Given the description of an element on the screen output the (x, y) to click on. 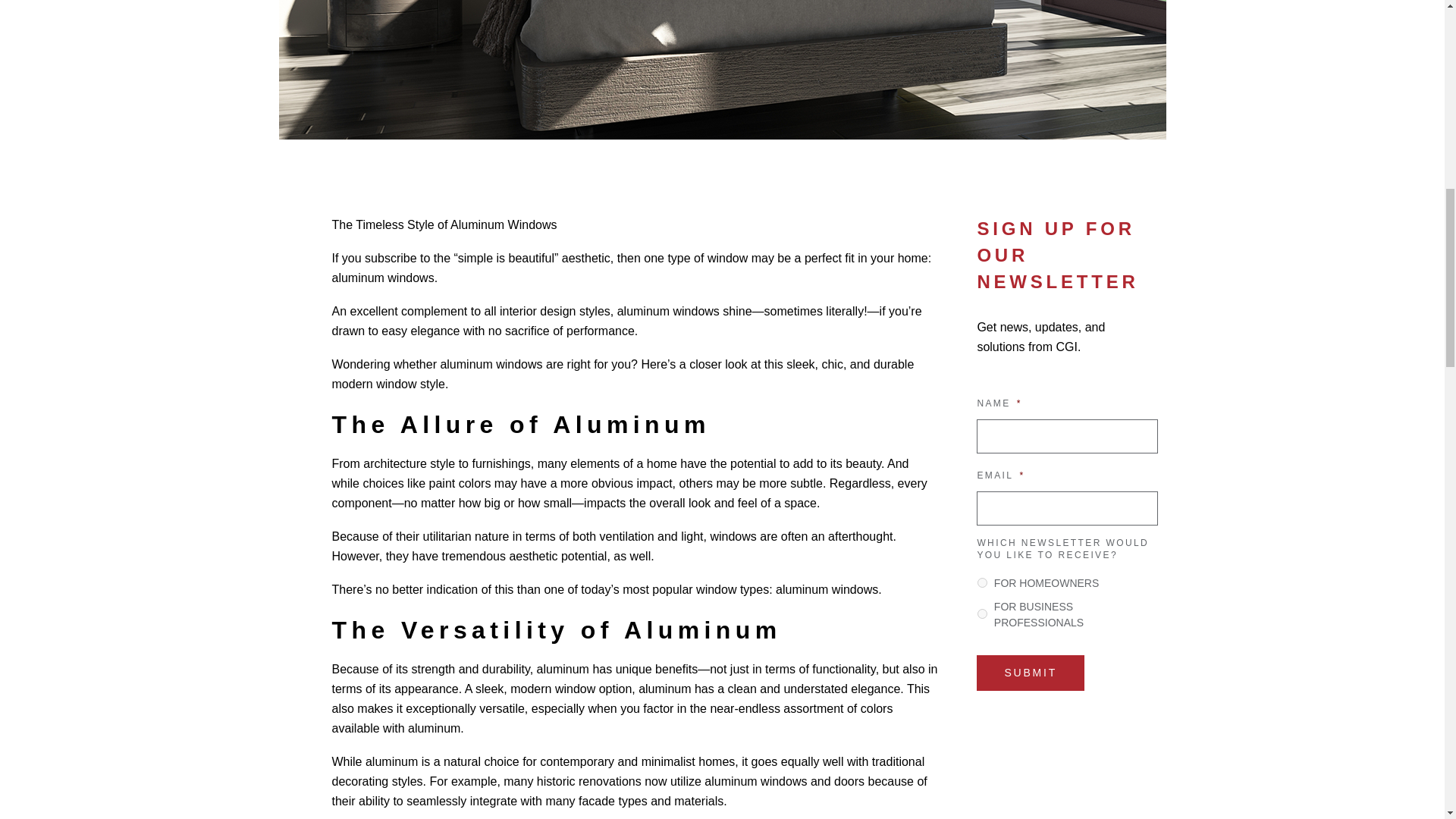
SUBMIT (1030, 673)
For Business Professionals (981, 614)
For Homeowners (981, 583)
